Given the description of an element on the screen output the (x, y) to click on. 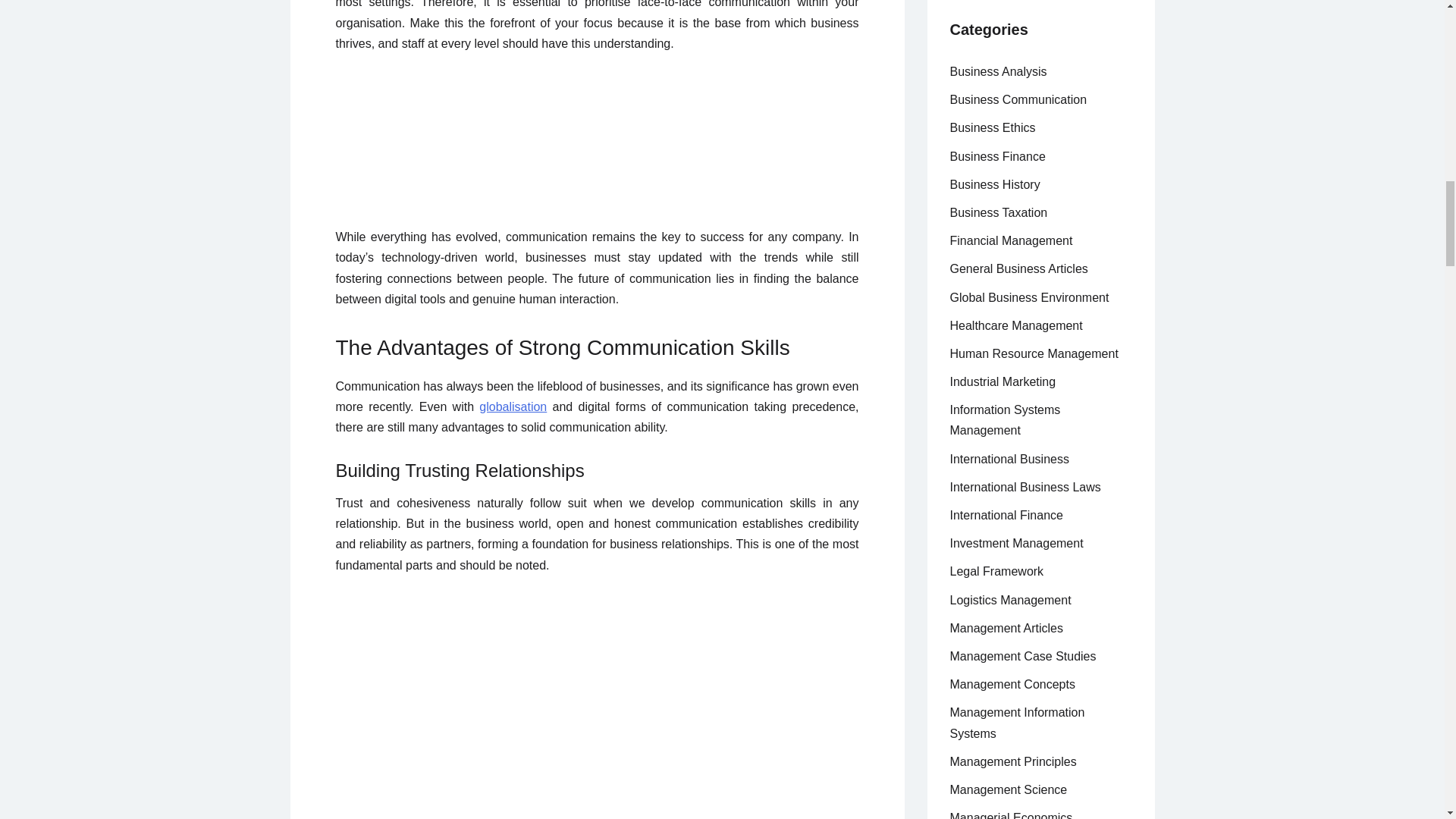
globalisation (513, 406)
